Given the description of an element on the screen output the (x, y) to click on. 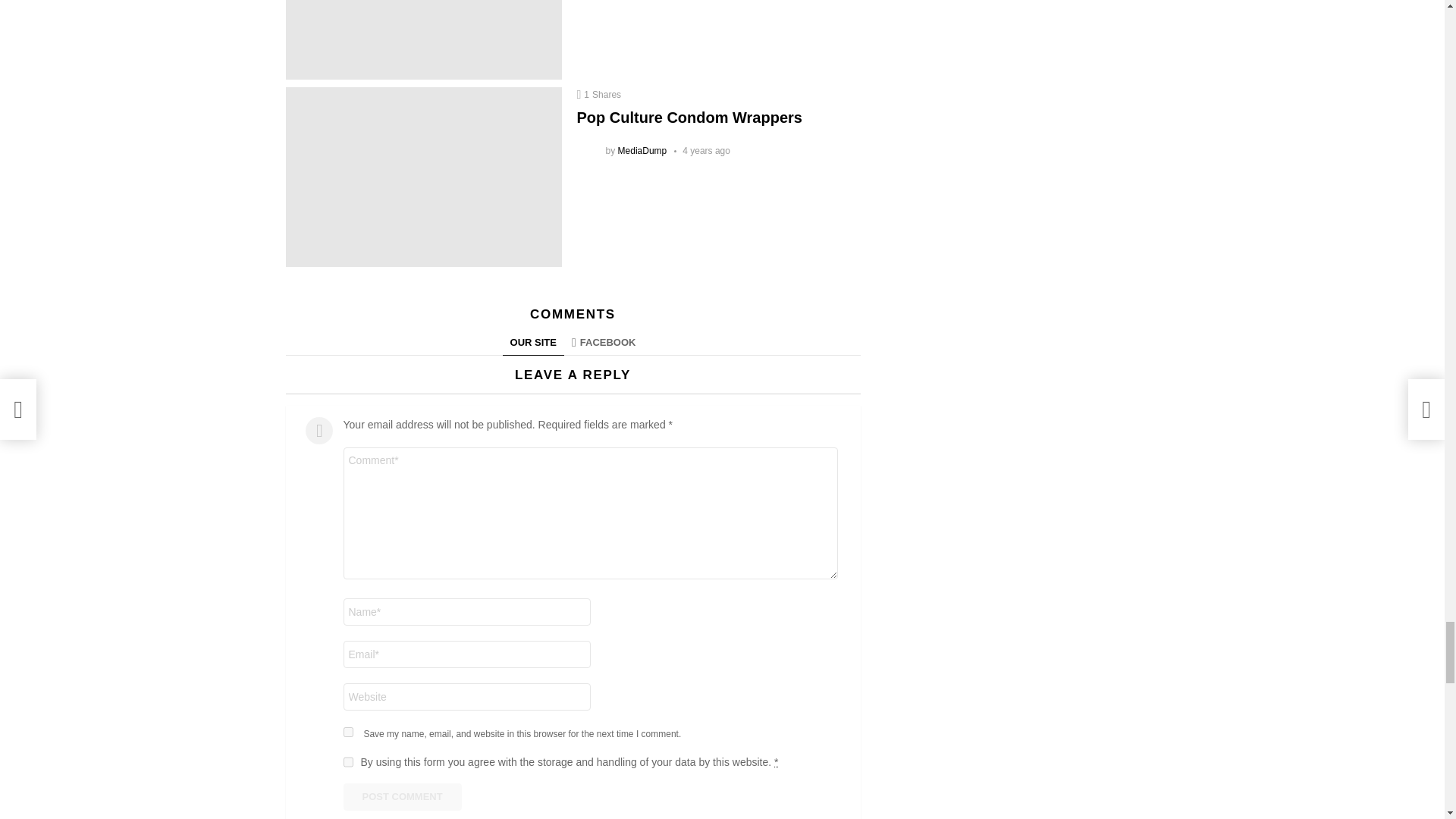
Post Comment (401, 796)
1 (347, 761)
yes (347, 732)
